Given the description of an element on the screen output the (x, y) to click on. 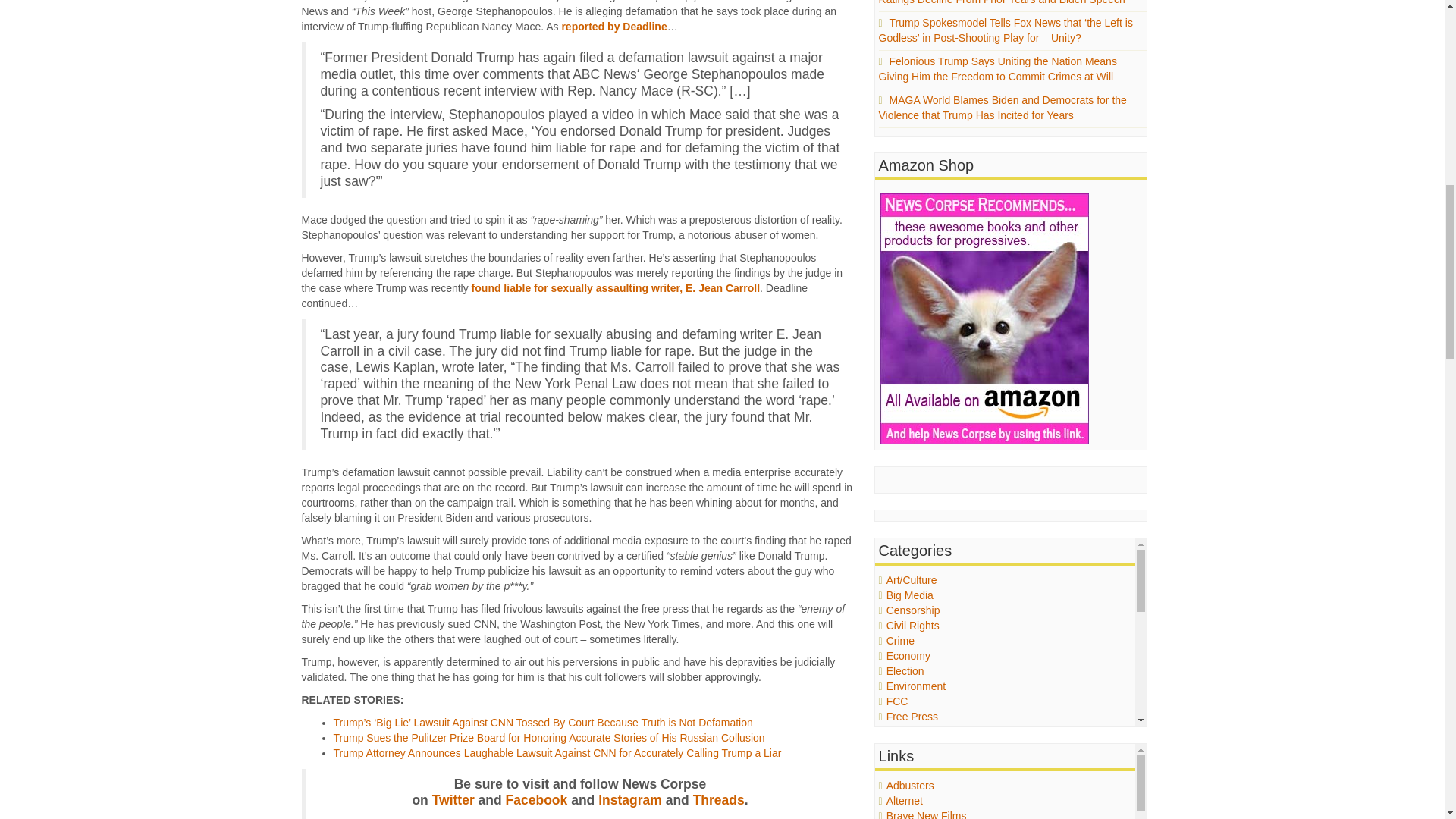
Twitter (453, 799)
reported by Deadline (613, 26)
Facebook (536, 799)
found liable for sexually assaulting writer, E. Jean Carroll (615, 287)
Instagram (630, 799)
Threads (718, 799)
